Given the description of an element on the screen output the (x, y) to click on. 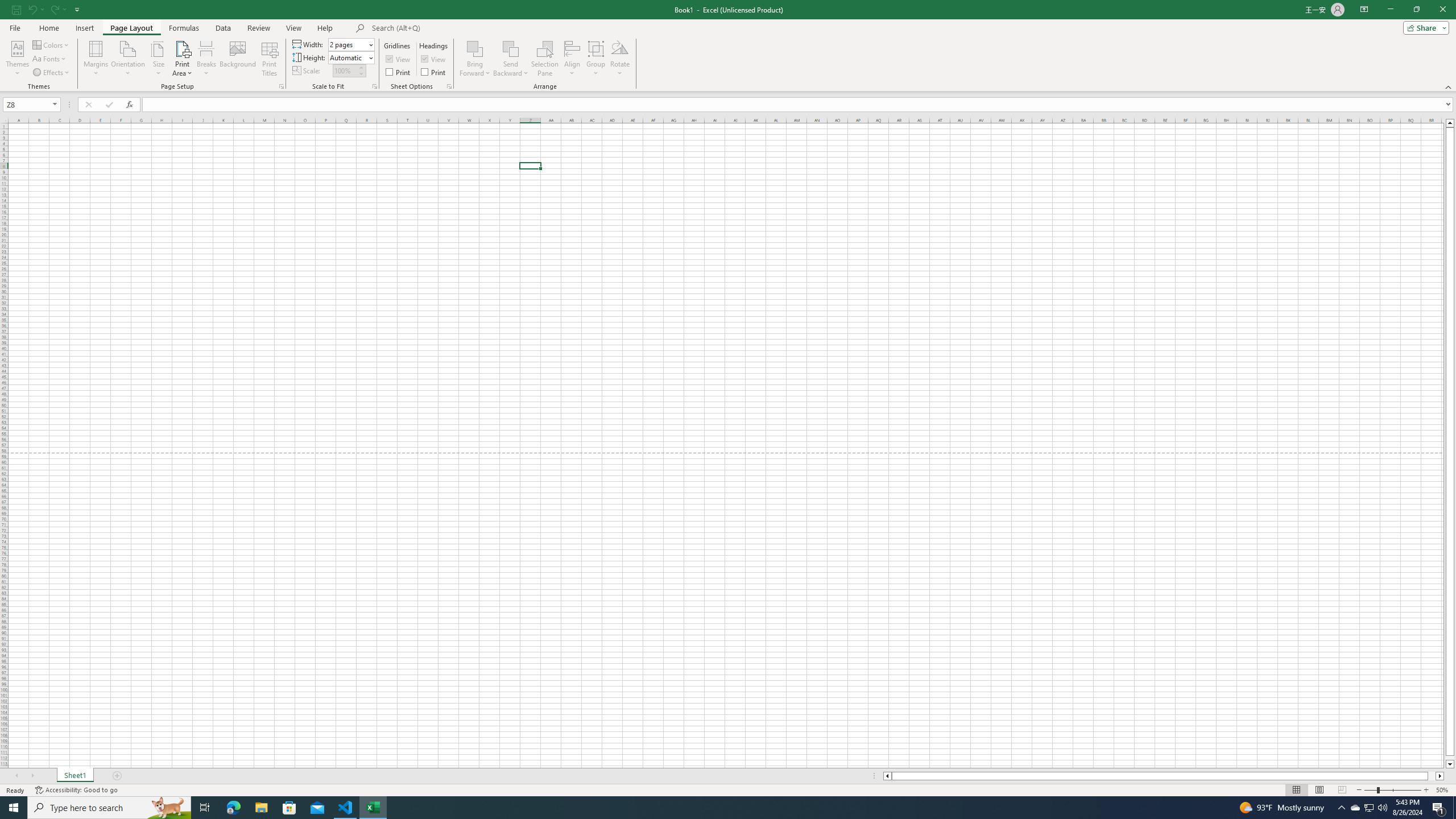
Selection Pane... (544, 58)
Print Titles (269, 58)
Fonts (49, 58)
